Given the description of an element on the screen output the (x, y) to click on. 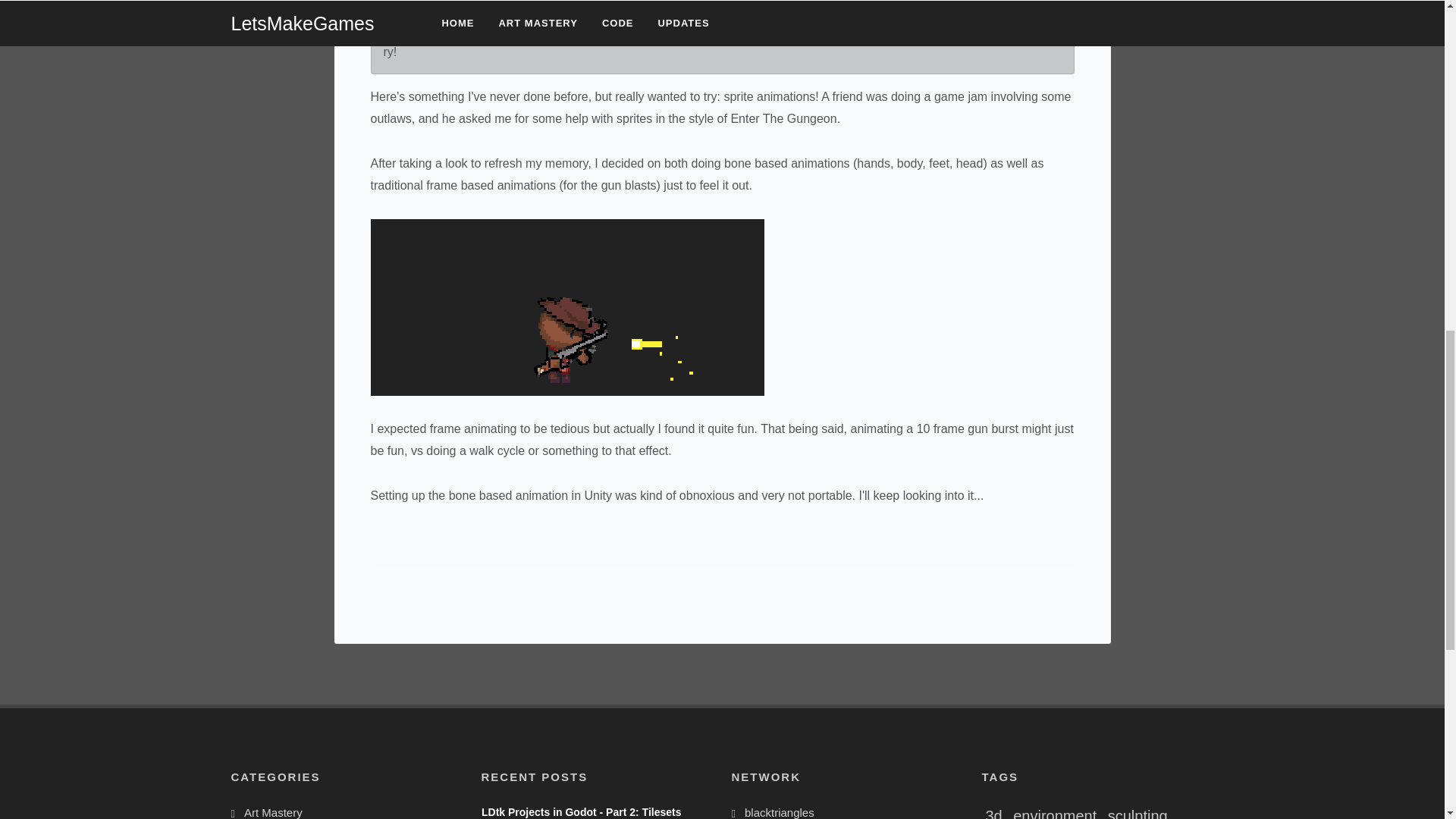
3d (994, 813)
environment (1054, 813)
blacktriangles (775, 811)
LDtk Projects in Godot - Part 2: Tilesets (579, 811)
Art Mastery (269, 811)
sculpting (1137, 813)
